Given the description of an element on the screen output the (x, y) to click on. 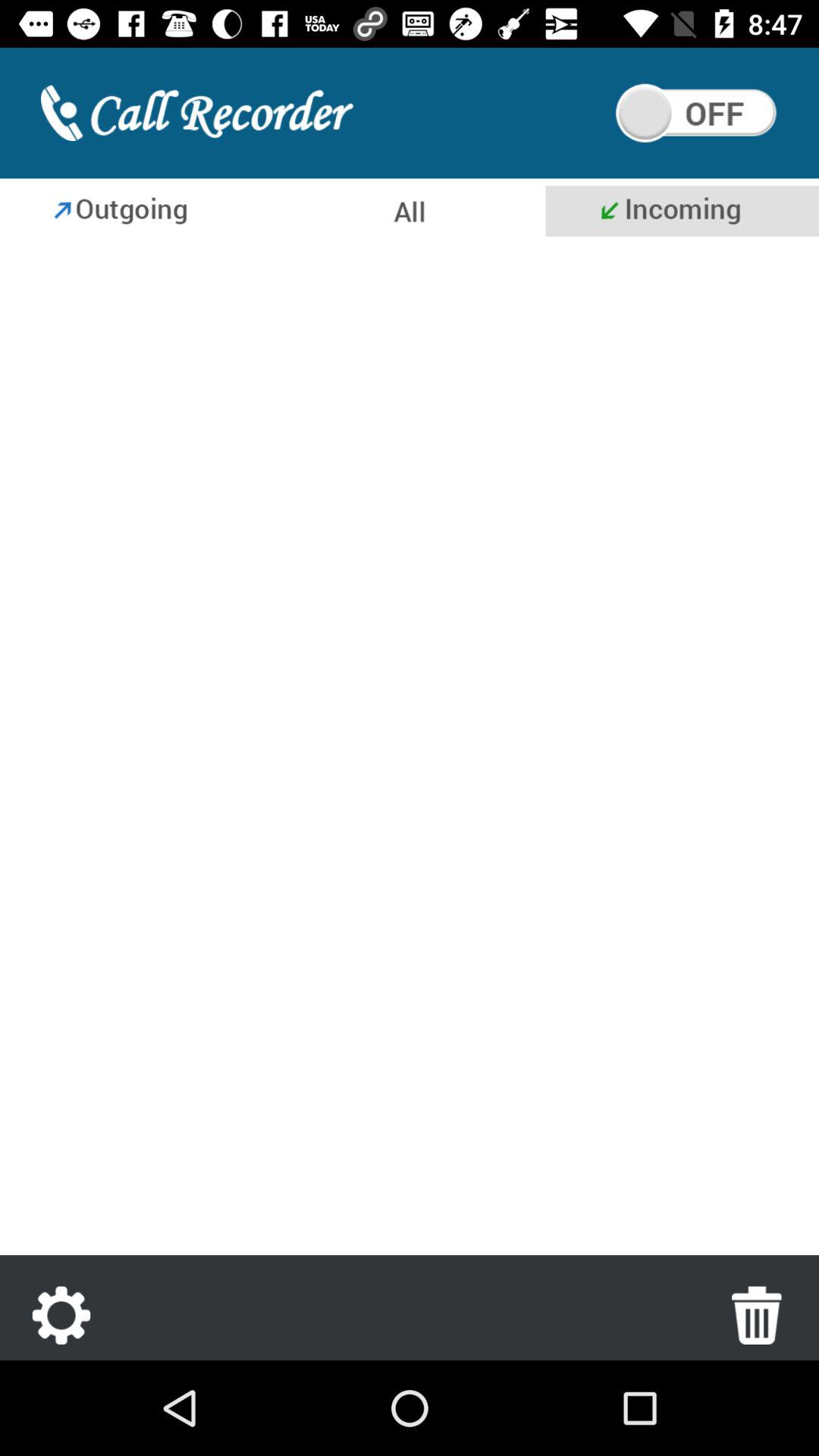
incoming calls (409, 749)
